Given the description of an element on the screen output the (x, y) to click on. 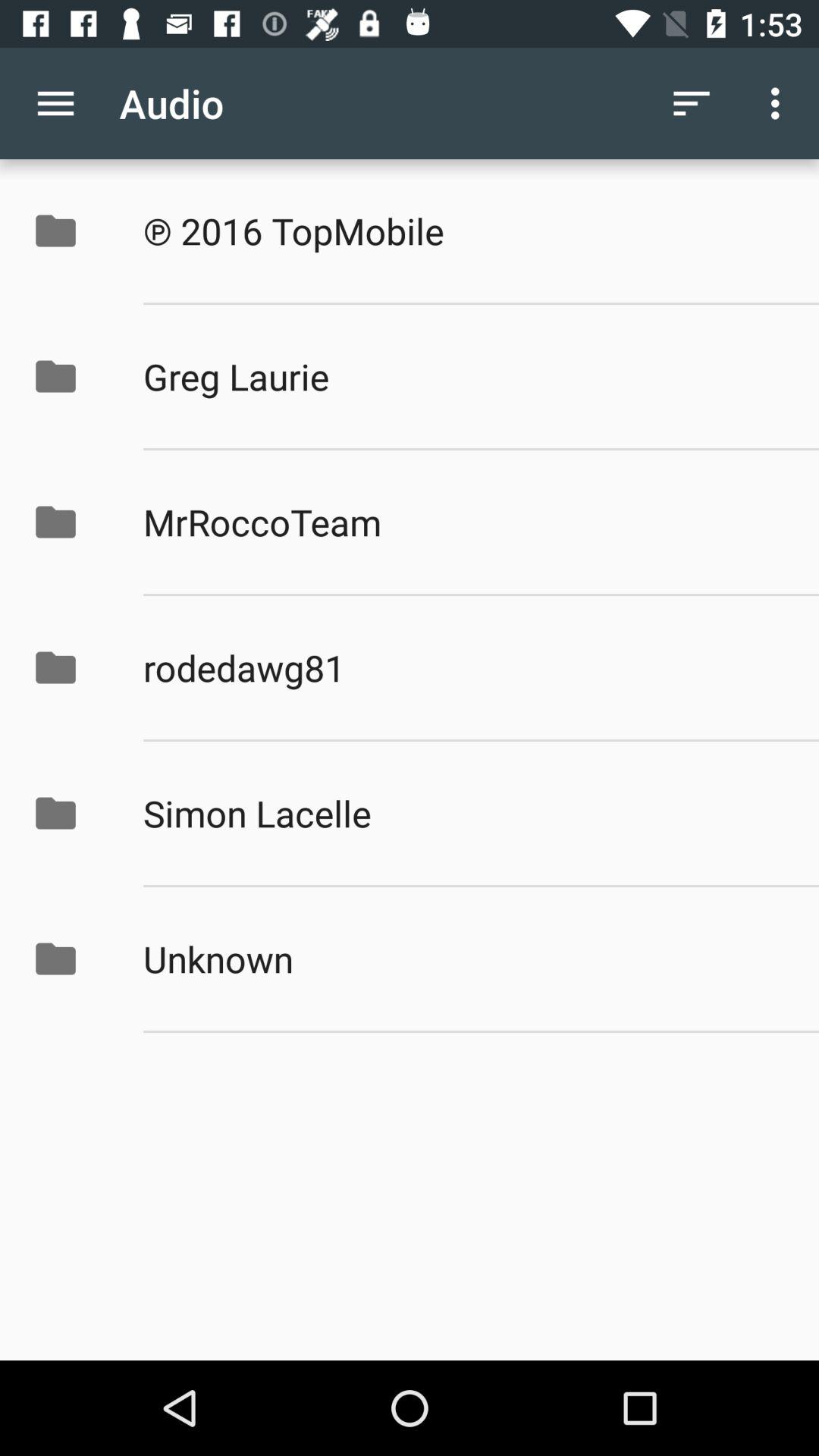
select the icon below greg laurie app (465, 521)
